Given the description of an element on the screen output the (x, y) to click on. 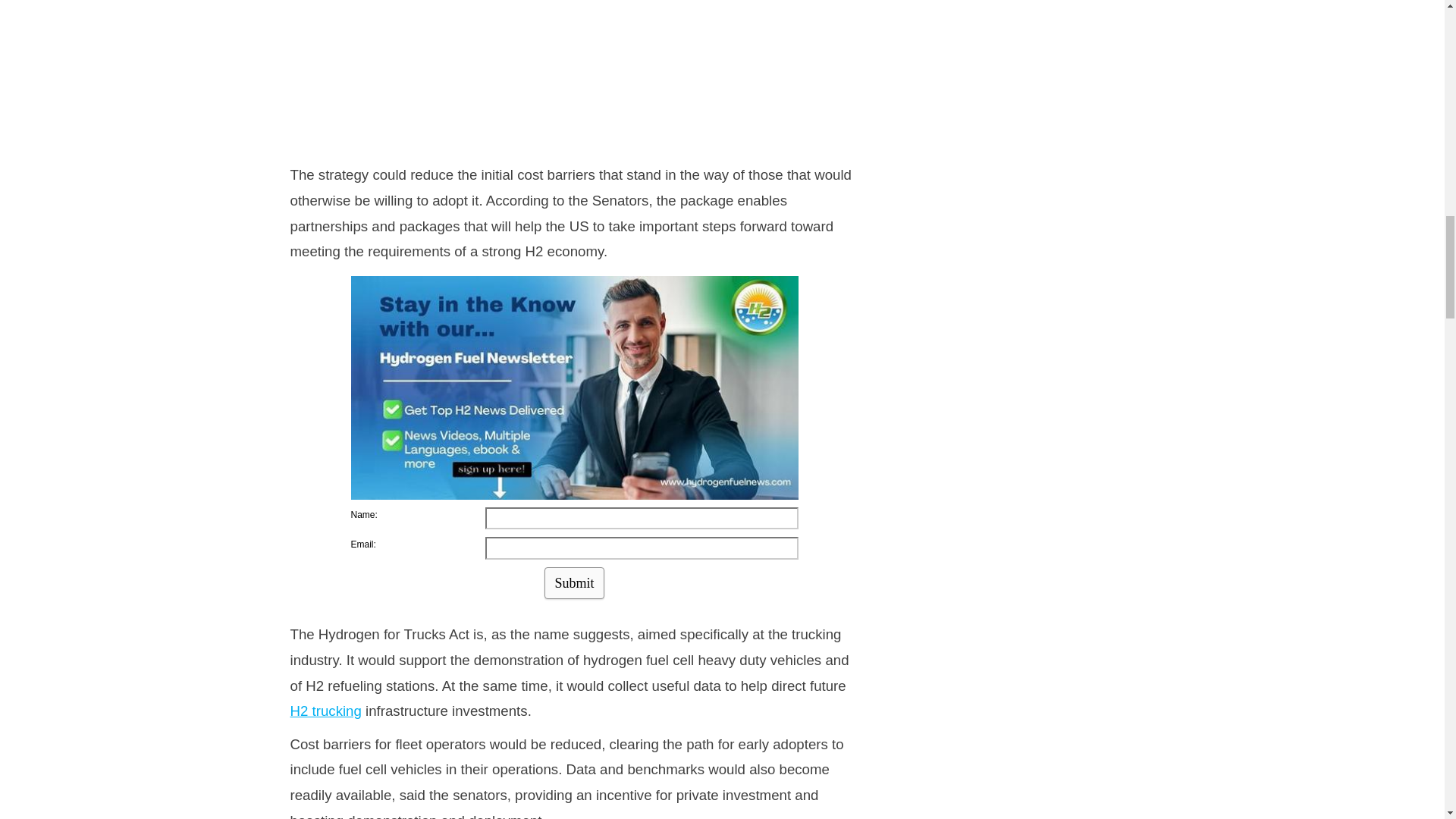
Submit (574, 582)
